Given the description of an element on the screen output the (x, y) to click on. 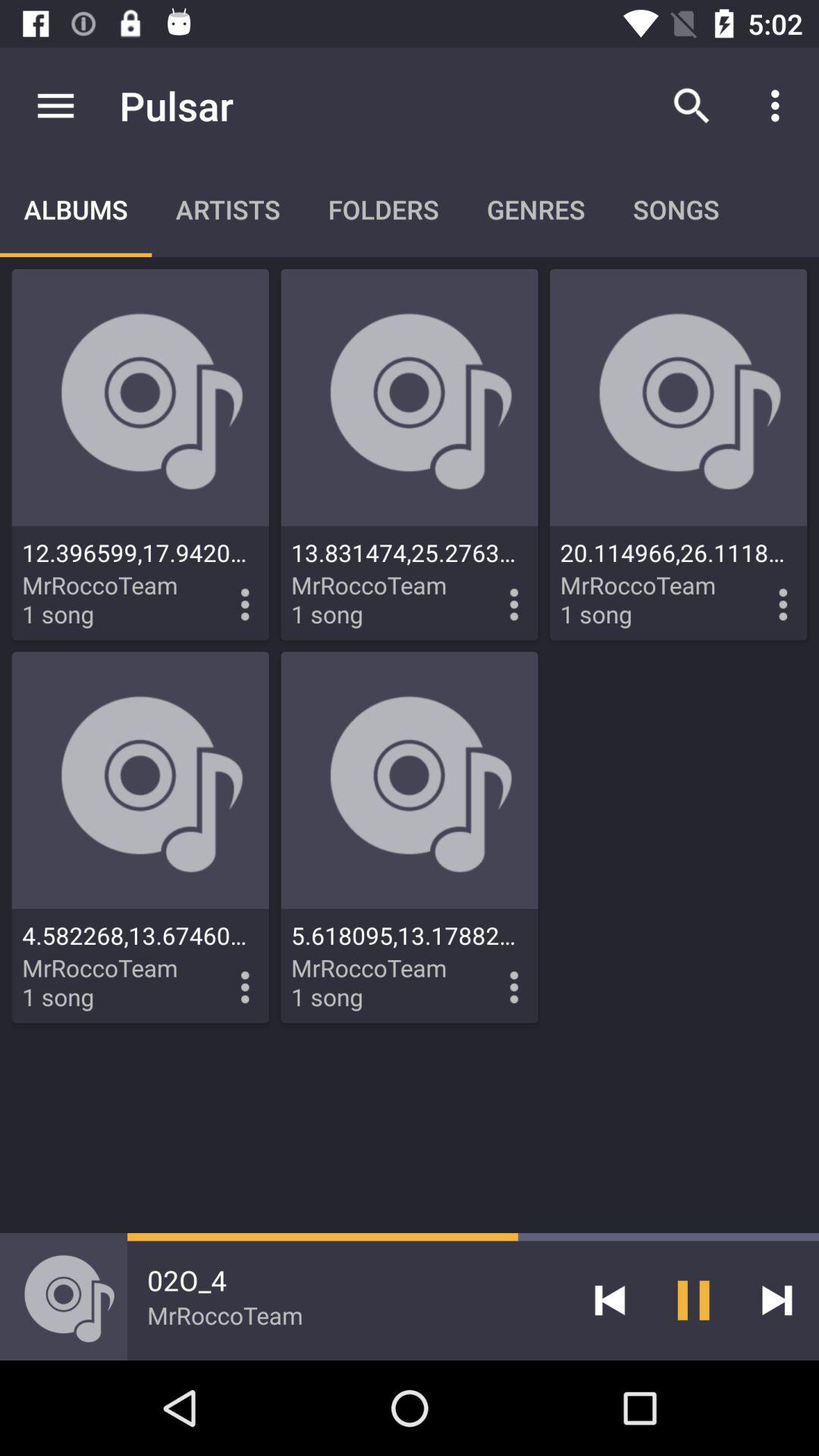
open app to the left of pulsar (55, 105)
